Given the description of an element on the screen output the (x, y) to click on. 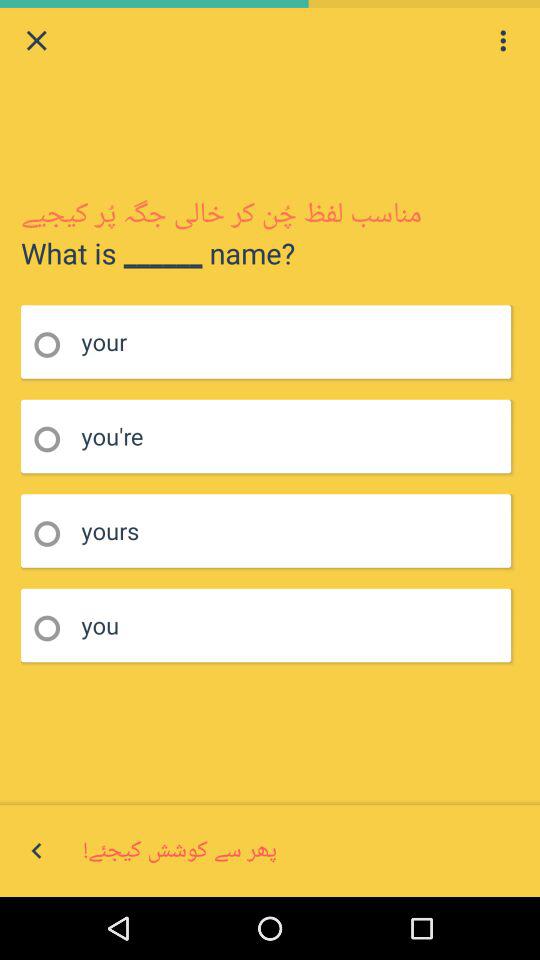
select answer you 're (53, 439)
